Given the description of an element on the screen output the (x, y) to click on. 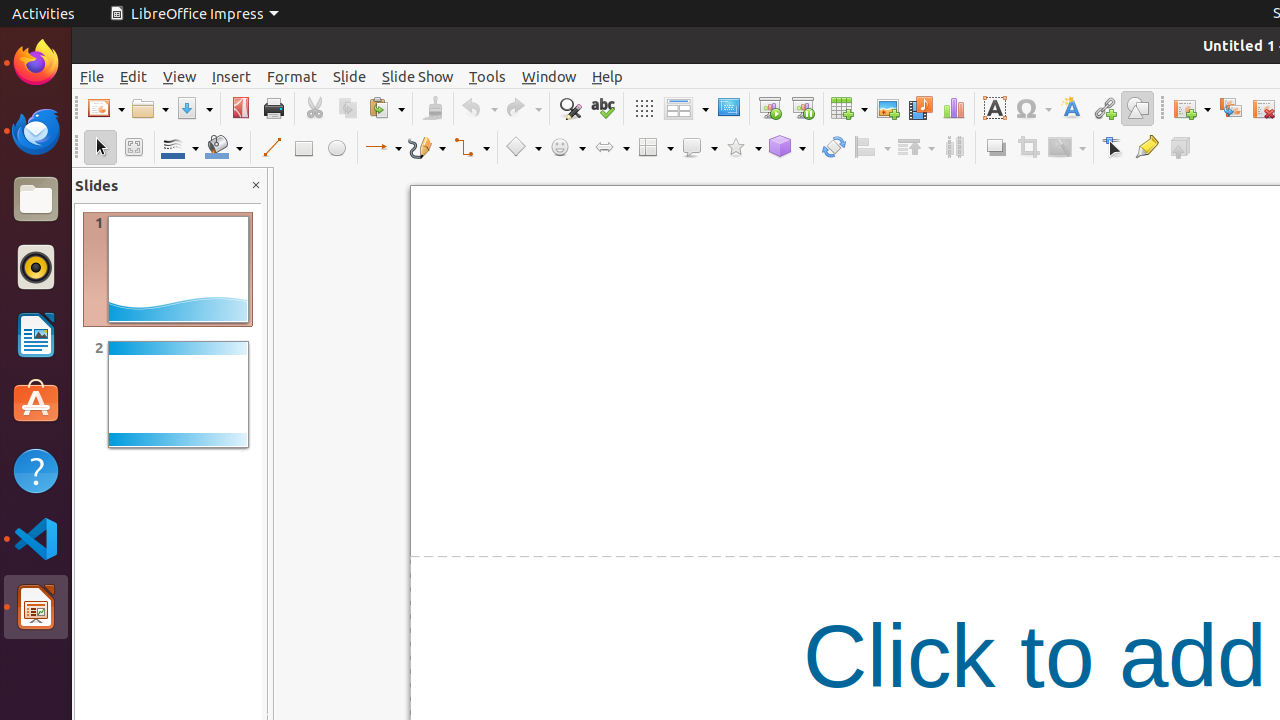
Ellipse Element type: push-button (336, 147)
Format Element type: menu (292, 76)
Curves and Polygons Element type: push-button (427, 147)
Image Element type: push-button (887, 108)
